Given the description of an element on the screen output the (x, y) to click on. 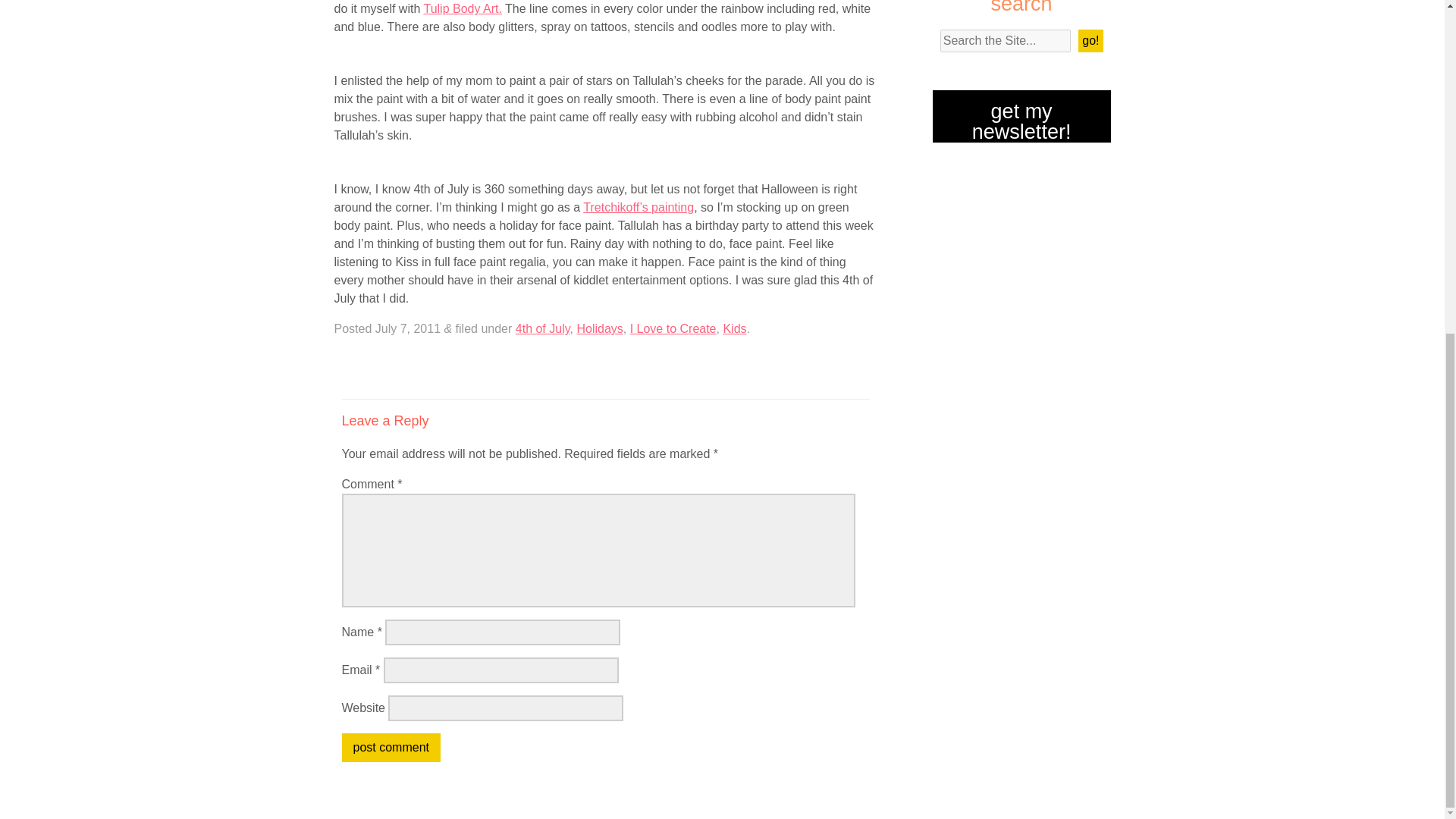
Post Comment (389, 747)
go! (1090, 40)
